Given the description of an element on the screen output the (x, y) to click on. 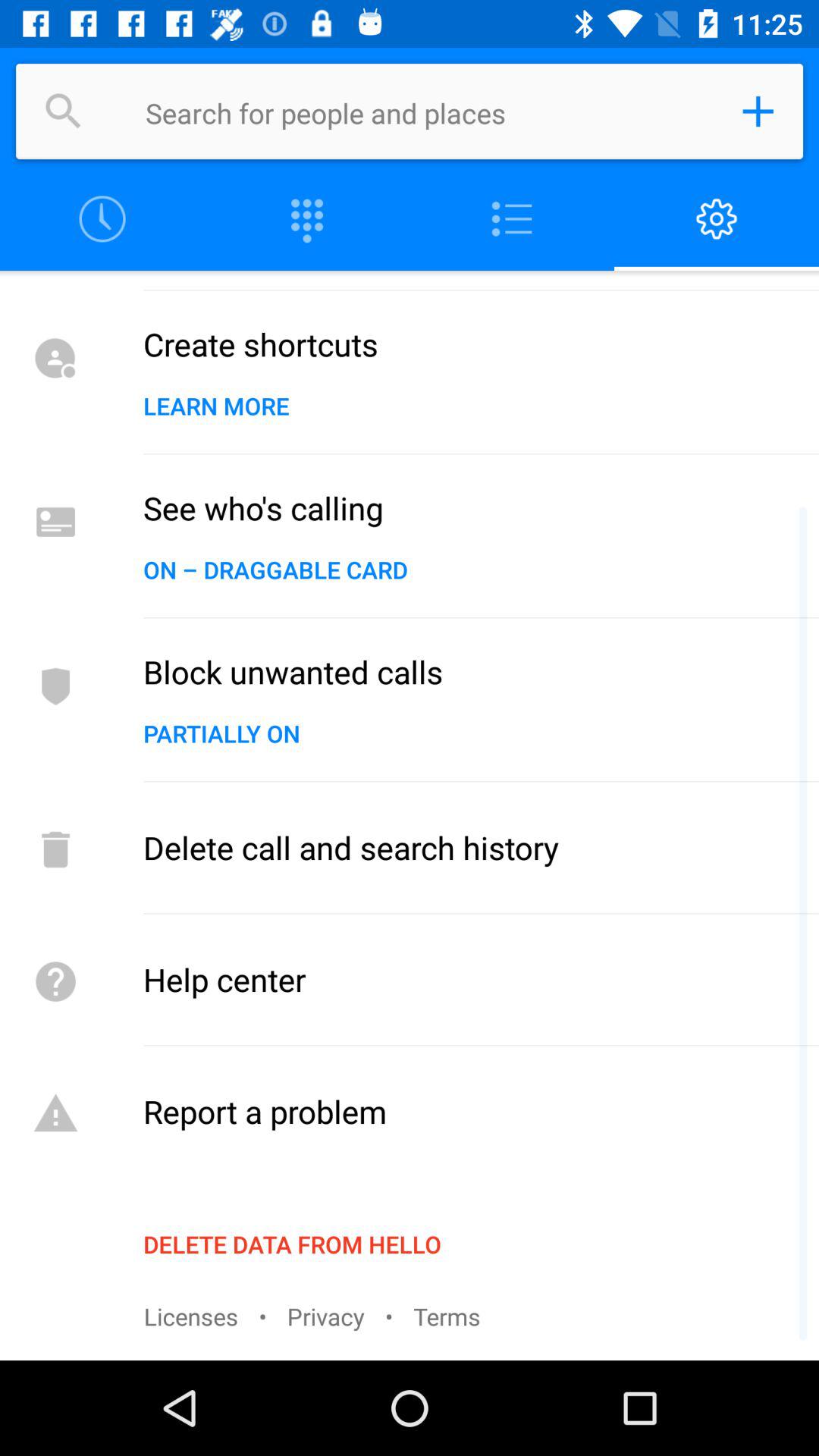
enter search terms (427, 111)
